Given the description of an element on the screen output the (x, y) to click on. 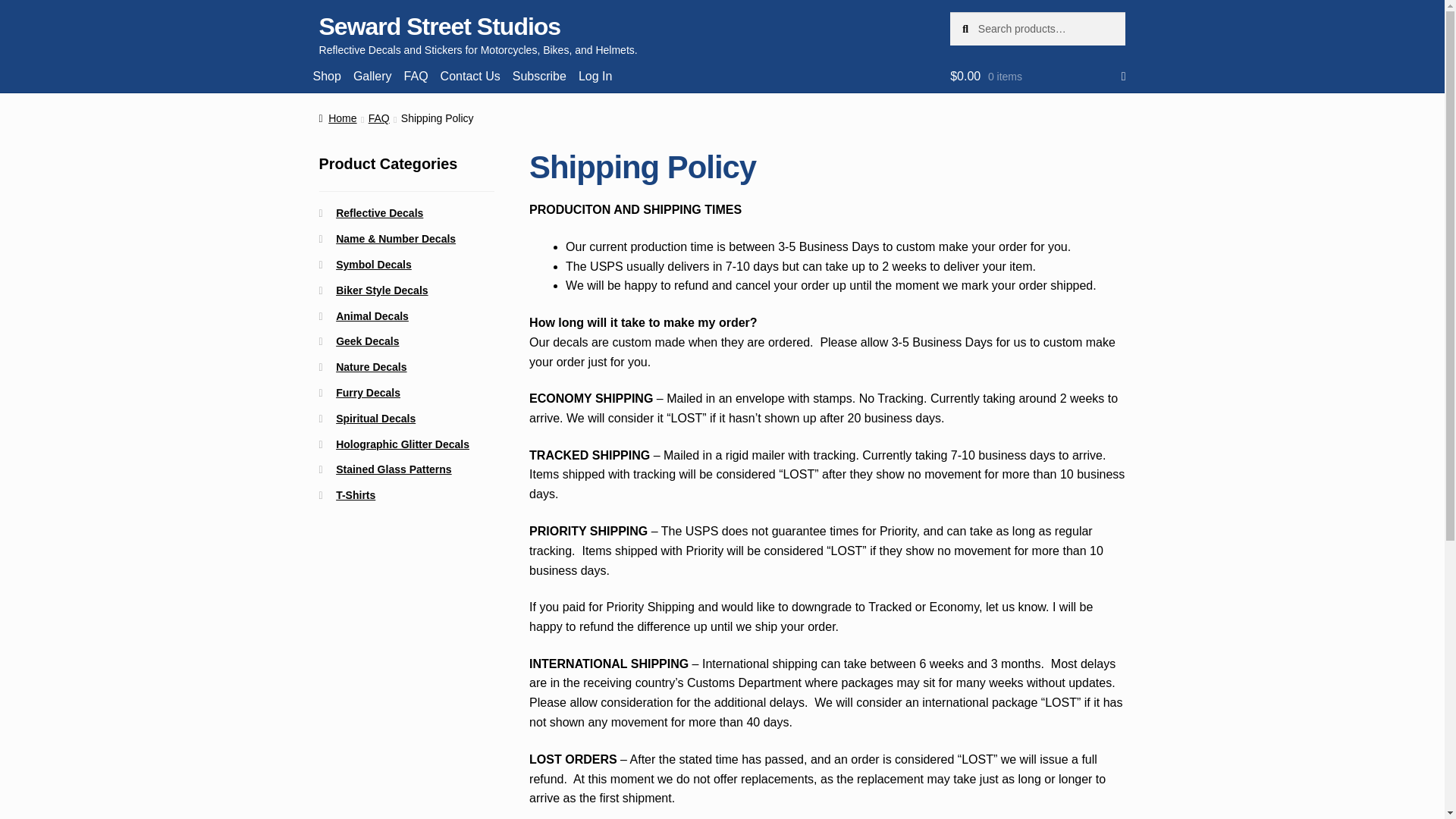
Seward Street Studios (439, 26)
Contact Us (469, 76)
Log In (594, 76)
View your shopping cart (1037, 76)
FAQ (415, 76)
Shop (327, 76)
Subscribe (539, 76)
Gallery (372, 76)
